Given the description of an element on the screen output the (x, y) to click on. 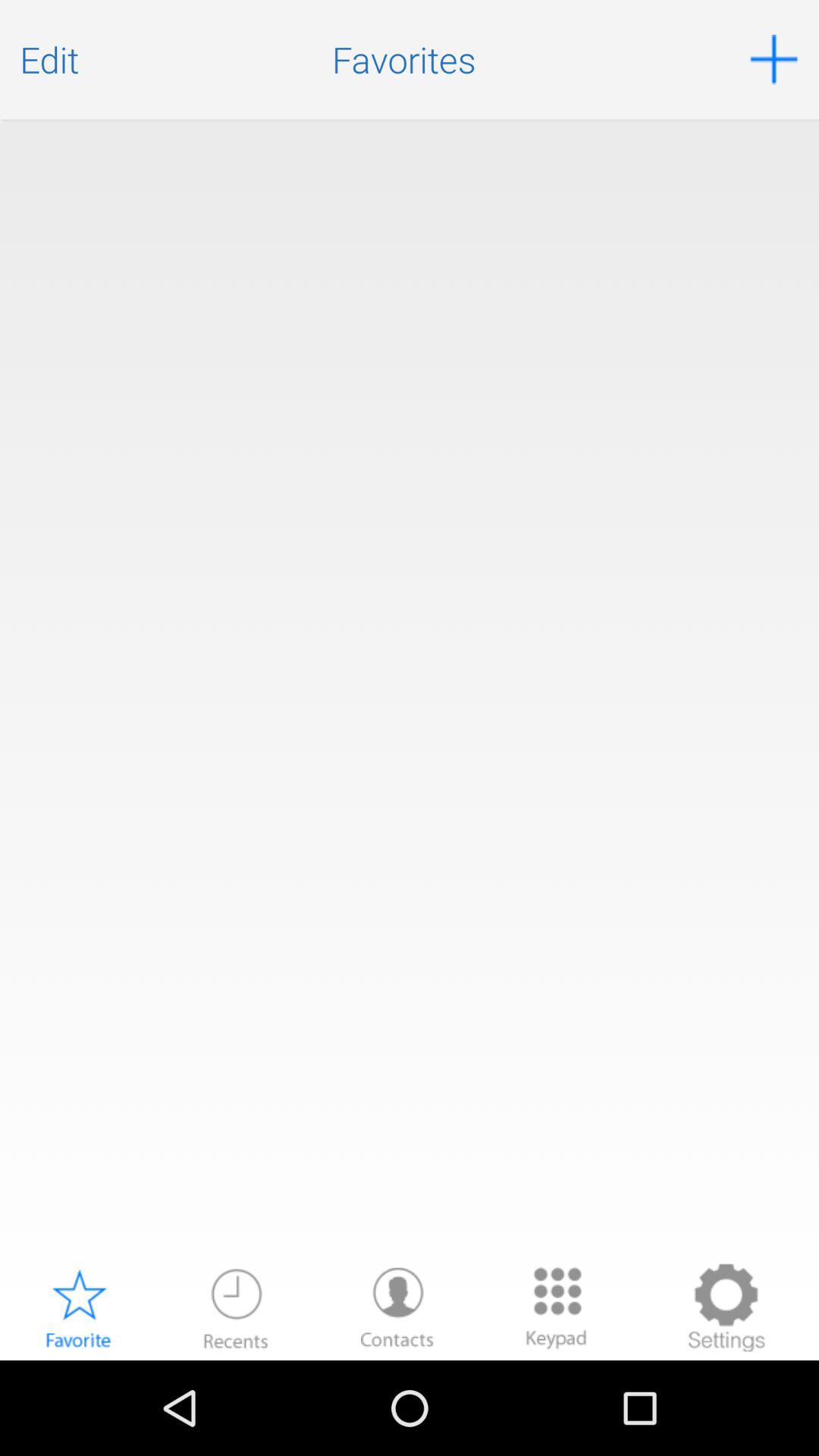
open settings (725, 1307)
